Given the description of an element on the screen output the (x, y) to click on. 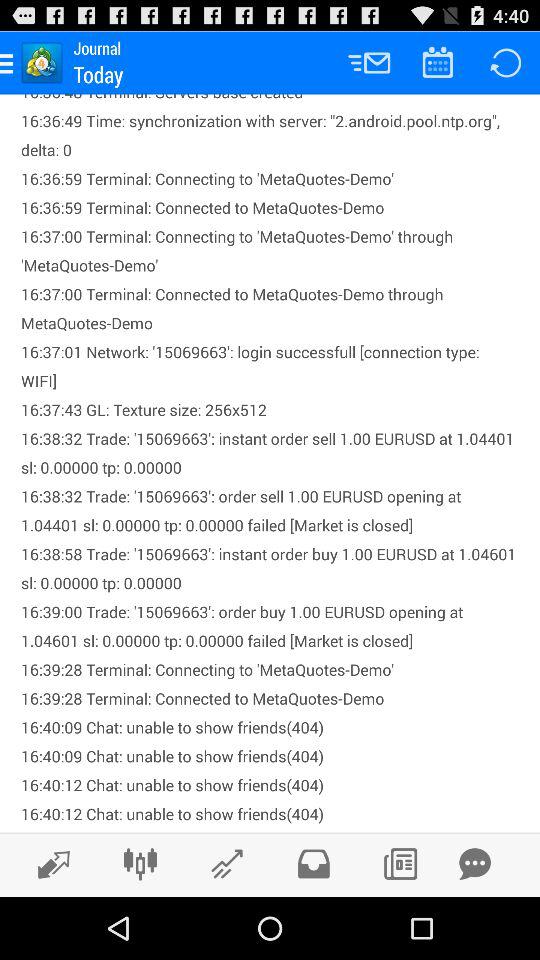
open item at the center (270, 463)
